Given the description of an element on the screen output the (x, y) to click on. 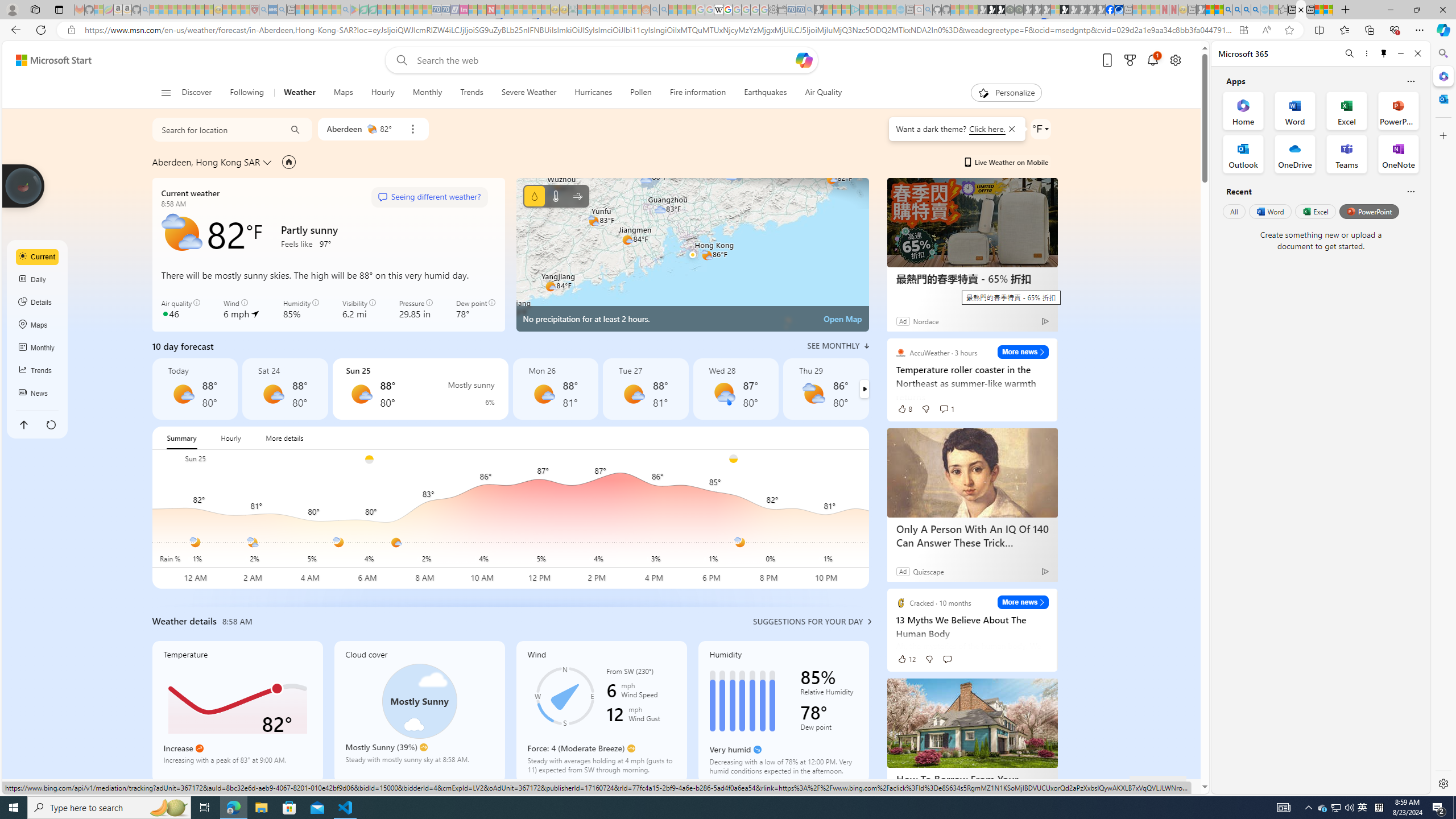
Expert Portfolios - Sleeping (608, 9)
Word Office App (1295, 110)
Class: miniMapRadarSVGView-DS-EntryPoint1-1 (692, 254)
Pollen (641, 92)
Details (37, 302)
Search for location (215, 128)
Seeing different weather? (429, 196)
Bluey: Let's Play! - Apps on Google Play - Sleeping (354, 9)
